Given the description of an element on the screen output the (x, y) to click on. 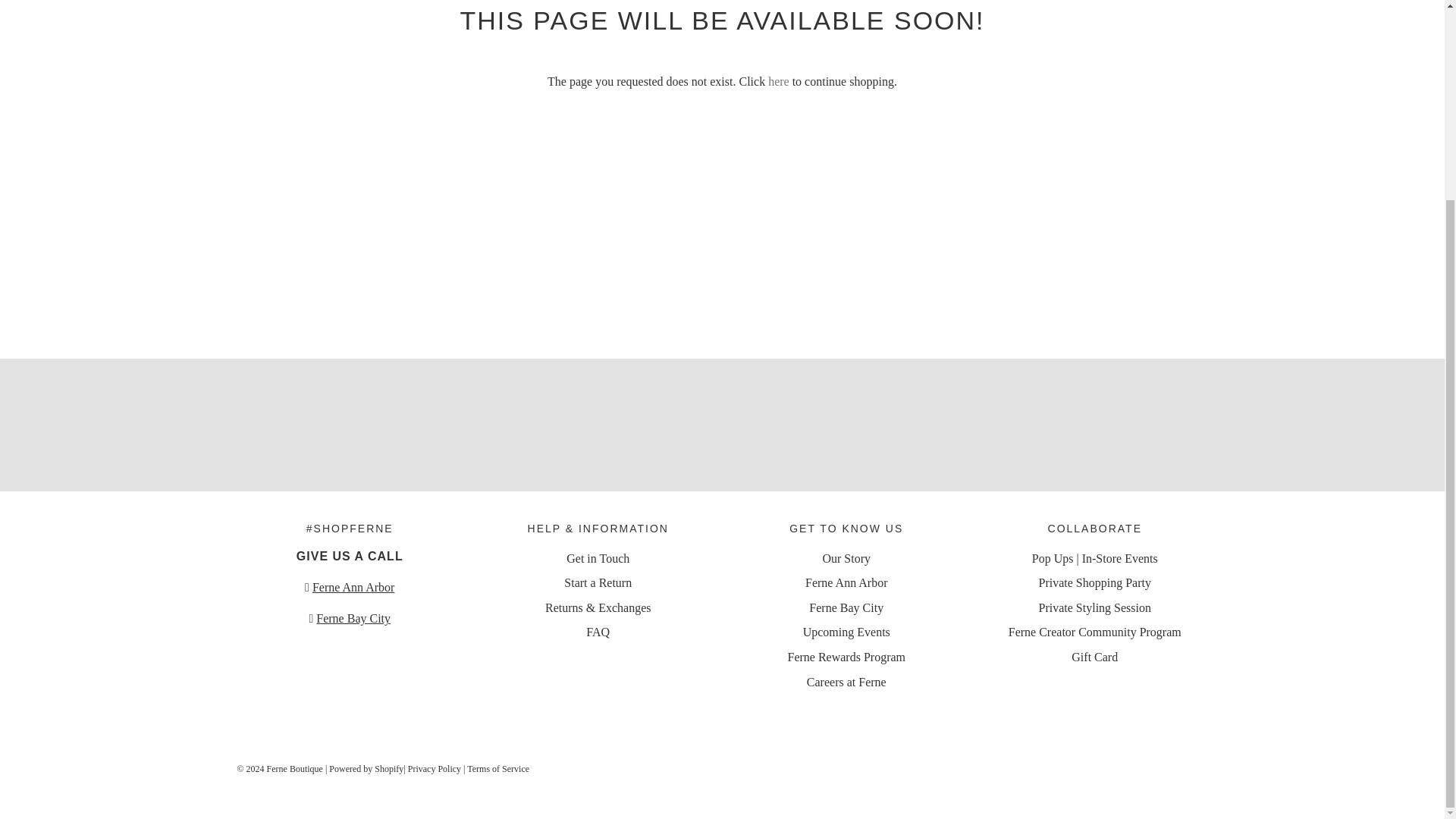
Ferne Bay City (352, 617)
